Given the description of an element on the screen output the (x, y) to click on. 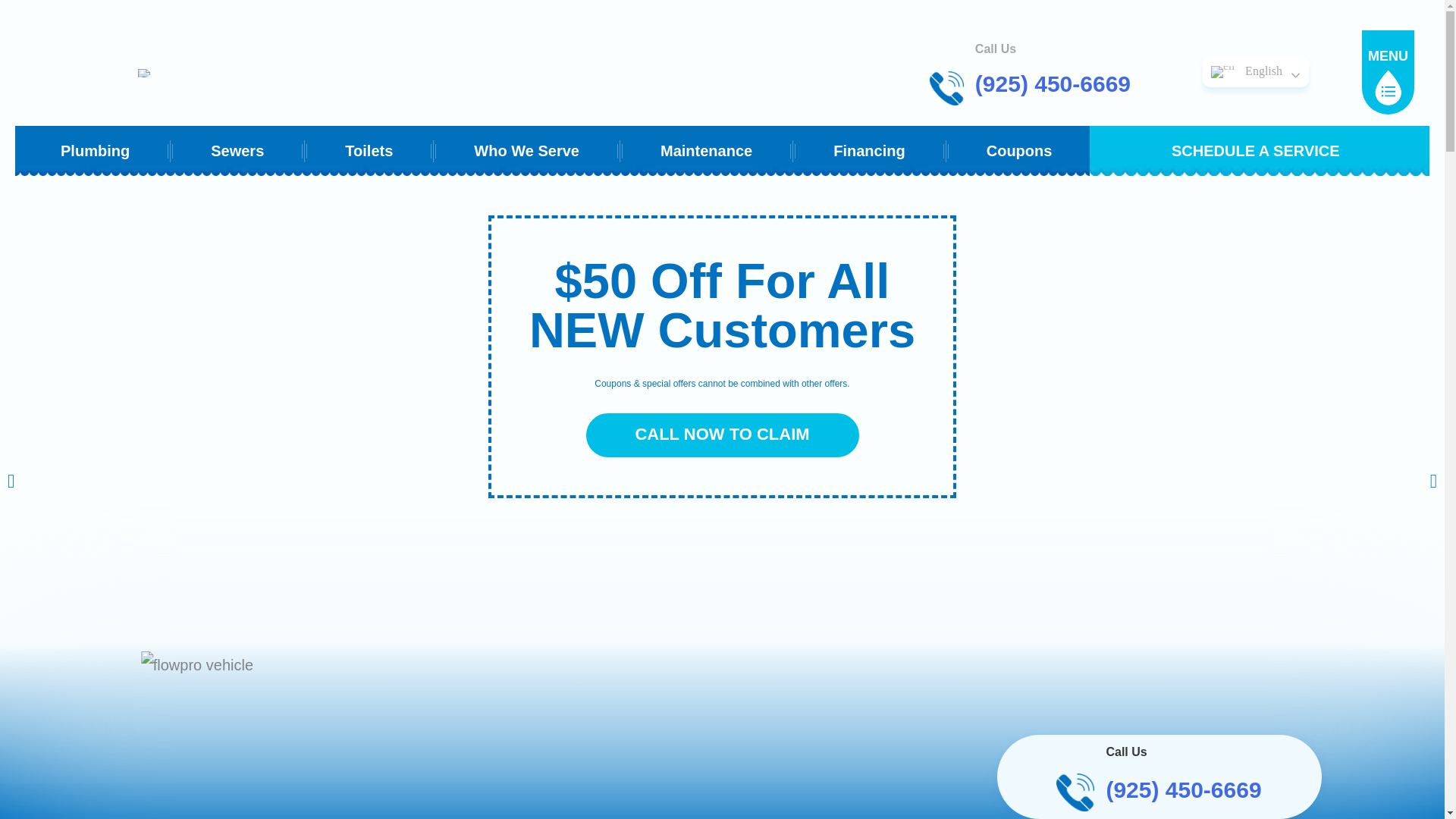
Home (427, 735)
English (1260, 72)
Plumbing (95, 150)
